Given the description of an element on the screen output the (x, y) to click on. 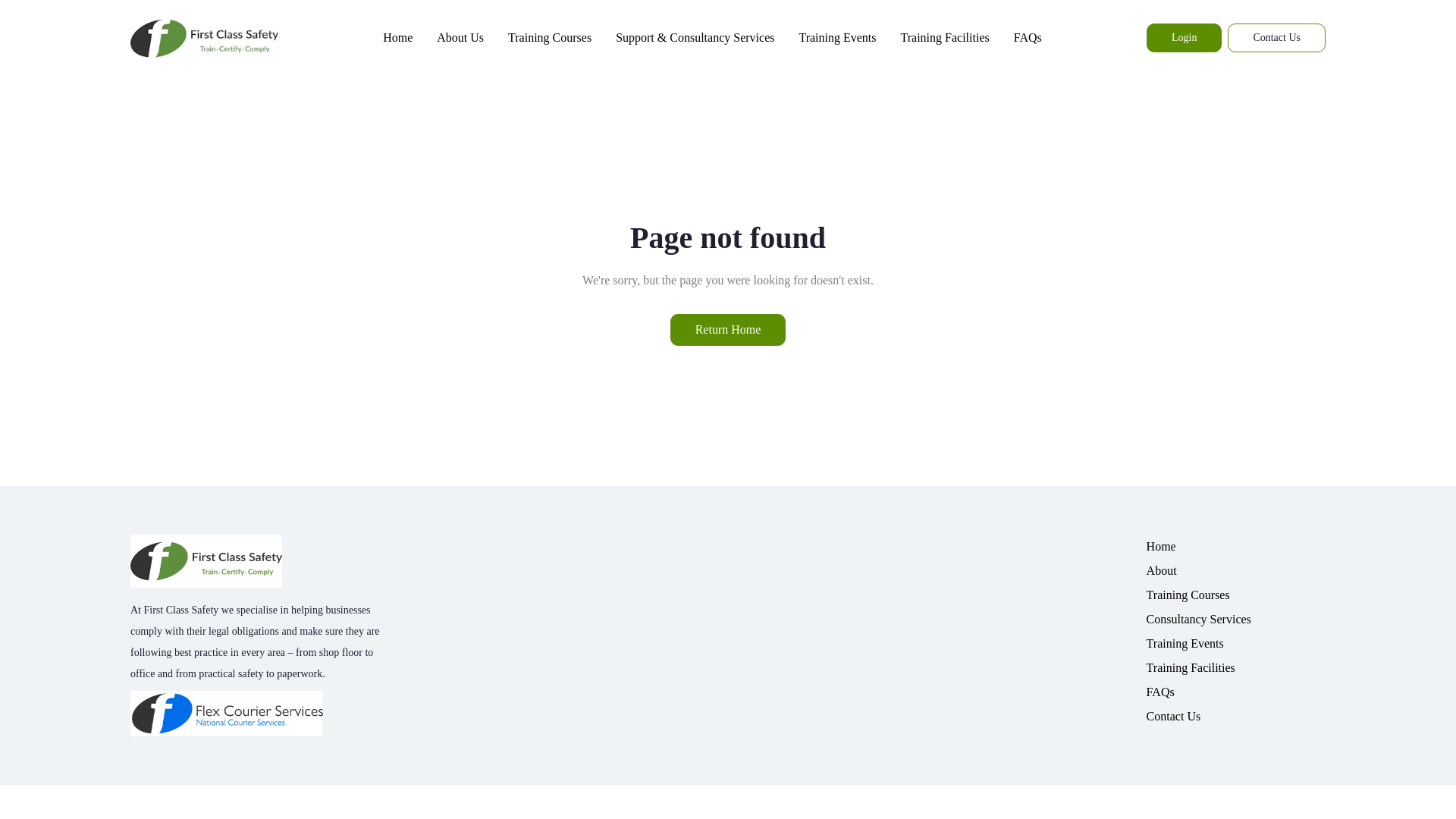
Training Events (837, 37)
About Us (460, 37)
Login (1184, 37)
Training Events (1235, 643)
About (1235, 570)
Training Facilities (944, 37)
Training Courses (550, 37)
Contact Us (1235, 716)
Consultancy Services (1235, 619)
Training Facilities (1235, 668)
